Given the description of an element on the screen output the (x, y) to click on. 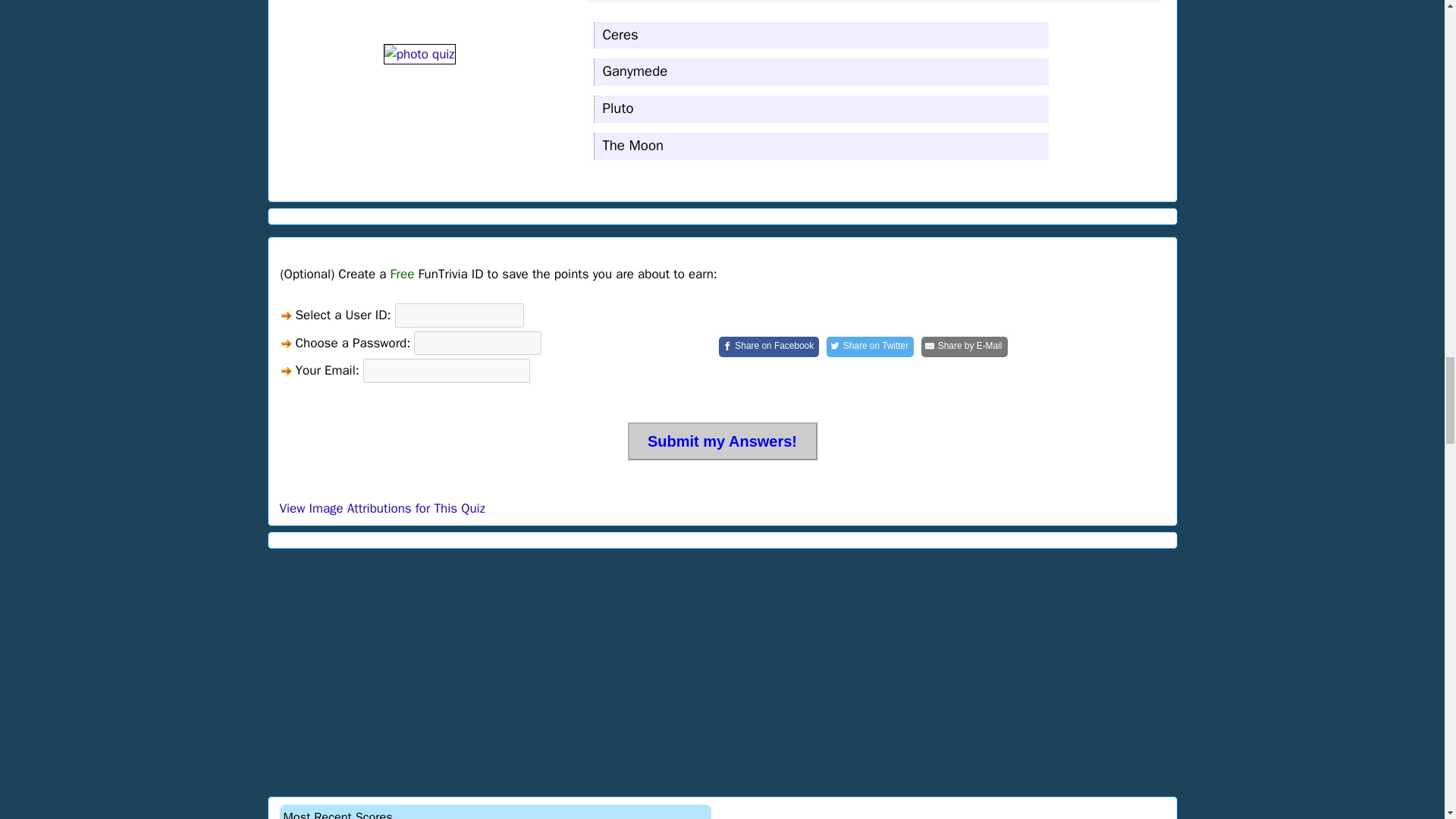
Submit my Answers! (721, 441)
